Given the description of an element on the screen output the (x, y) to click on. 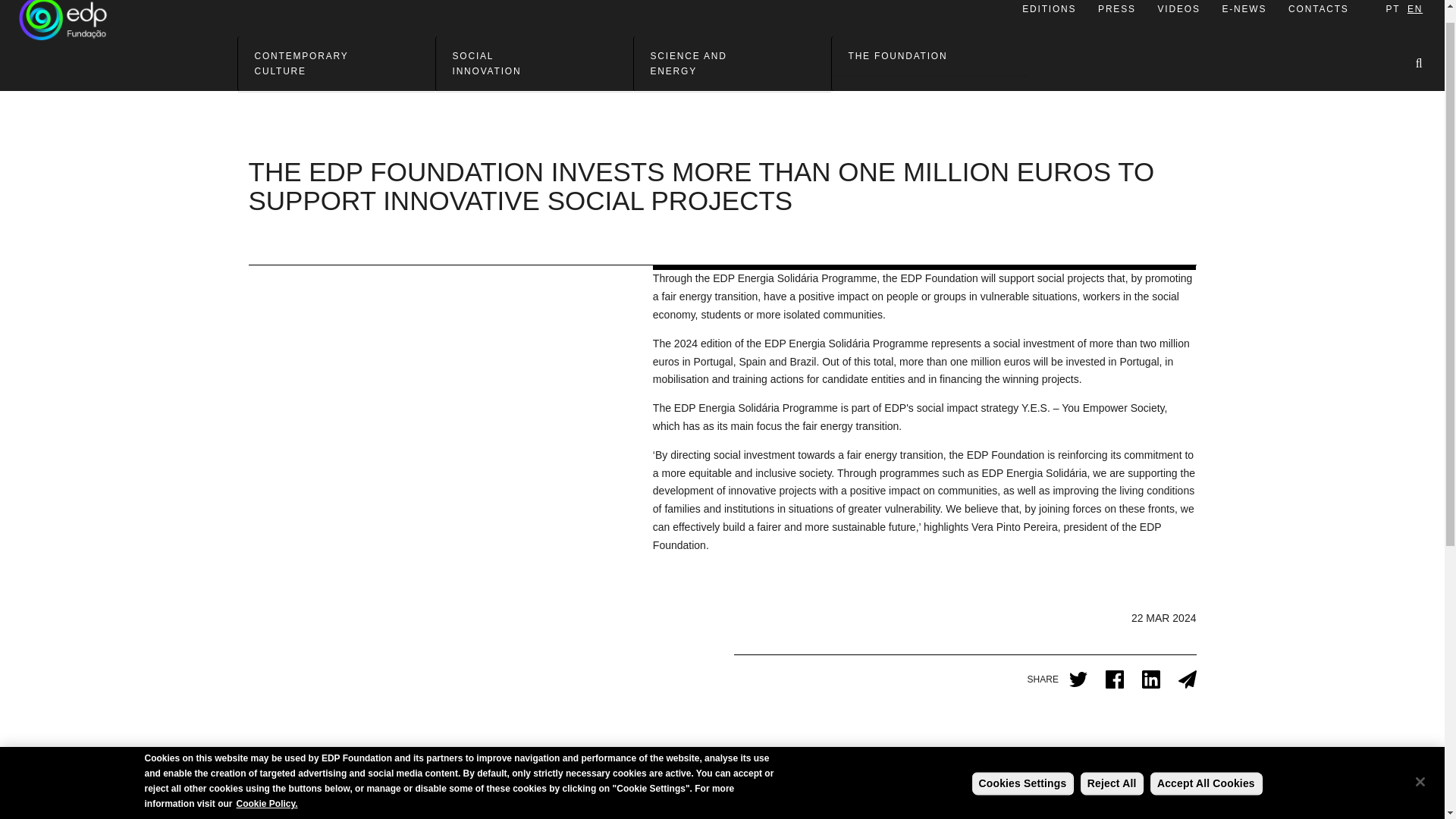
Share Twitter (1077, 679)
Share Mail (1186, 679)
THE FOUNDATION (929, 56)
SCIENCE AND ENERGY (732, 63)
Share Linkedin (1150, 679)
VIDEOS (1179, 13)
SOCIAL INNOVATION (533, 63)
CONTEMPORARY CULTURE (336, 63)
CONTACTS (1318, 13)
PRESS (1117, 13)
